Given the description of an element on the screen output the (x, y) to click on. 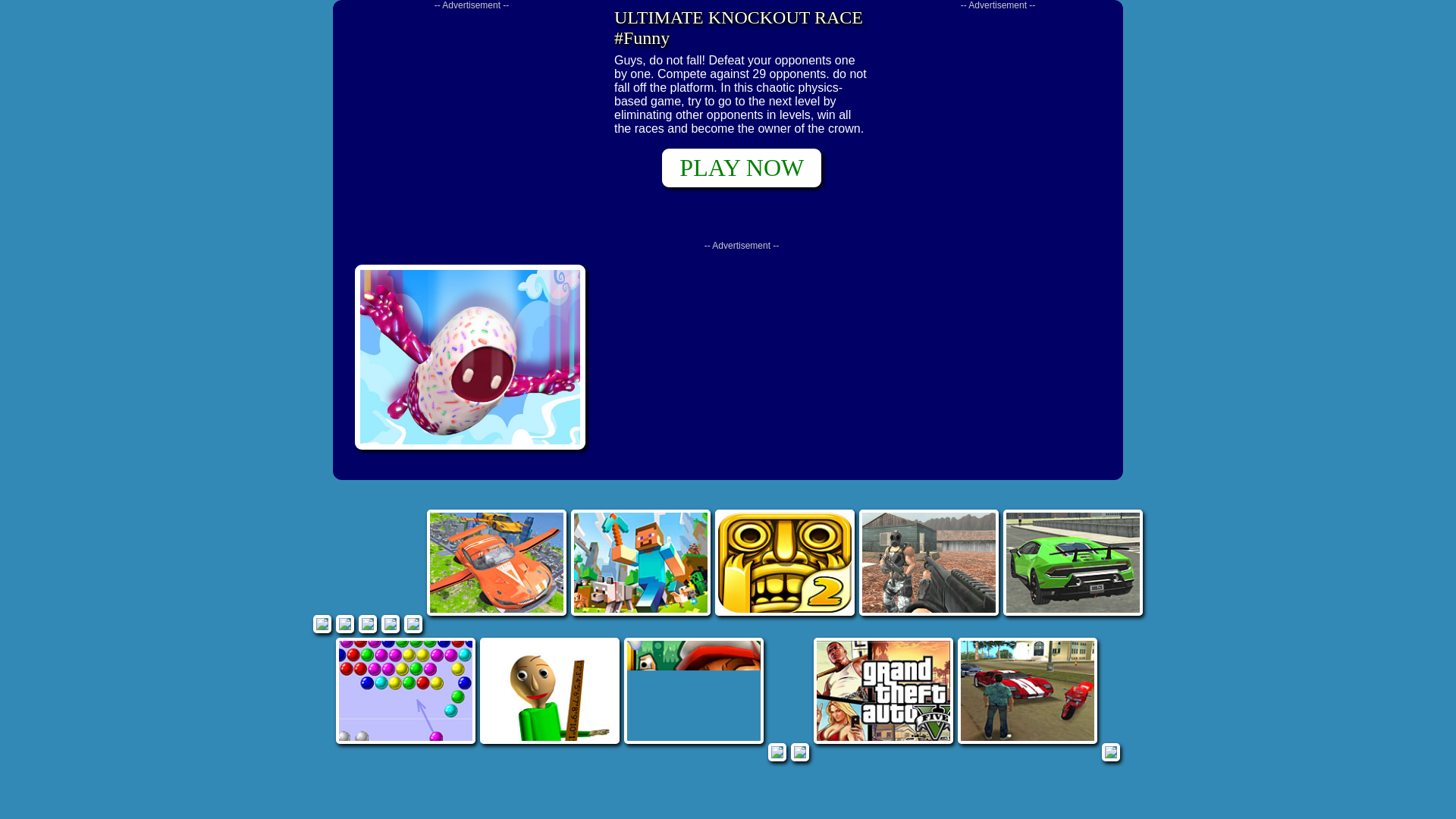
Play Ultimate Knockout Race (470, 355)
  PLAY NOW   (741, 167)
